Given the description of an element on the screen output the (x, y) to click on. 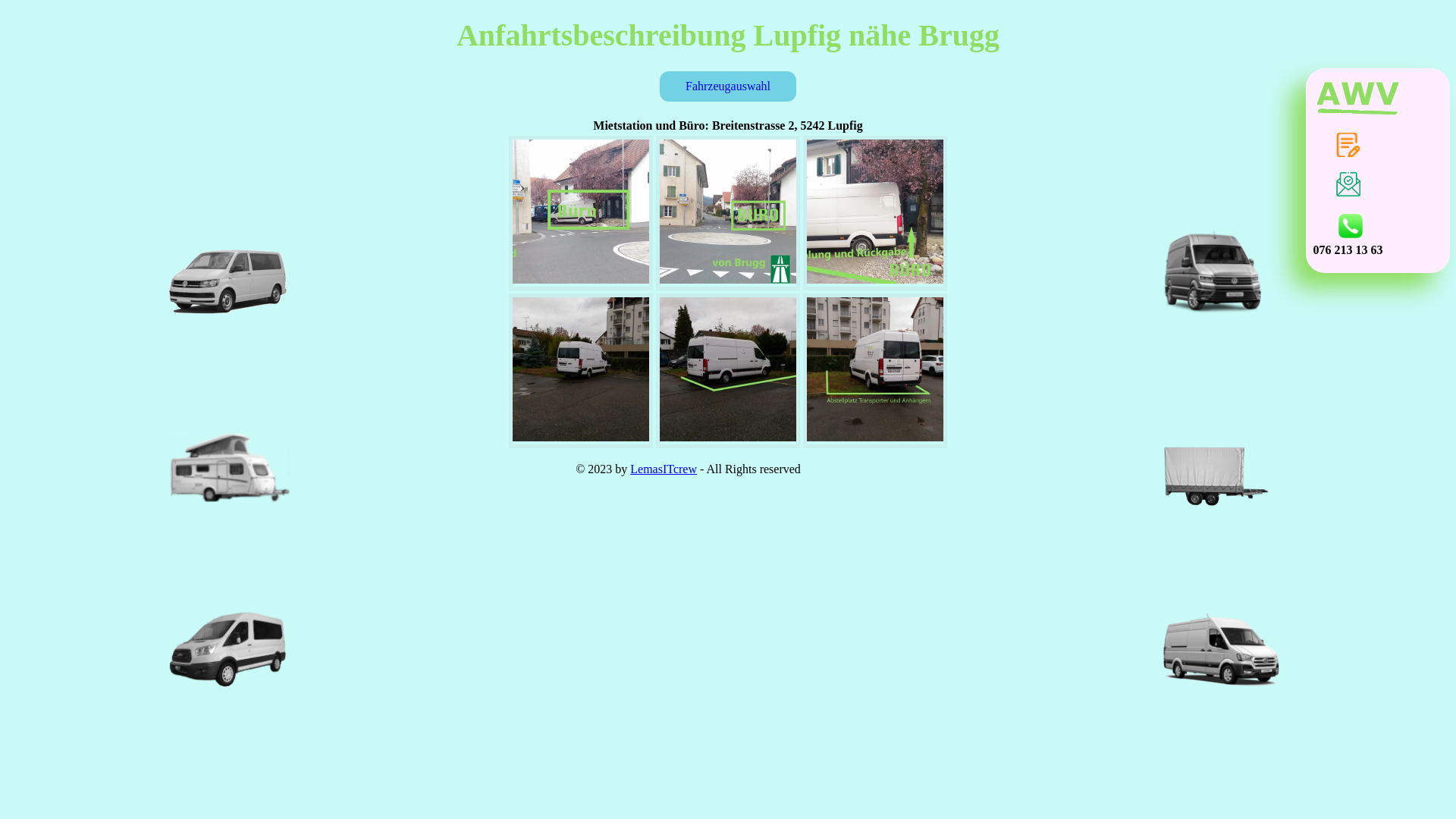
Lieferwagenvermietung Brugg Element type: hover (874, 279)
Mietwagen Brugg Element type: hover (727, 436)
Formularanfrage Element type: hover (1348, 144)
LemasITcrew Element type: text (663, 468)
5242 Lupfig Element type: hover (580, 279)
E-Mail senden Element type: hover (1348, 184)
AWV Brugg Element type: hover (1358, 98)
Telefonisch Element type: hover (1350, 225)
Miete mich Lupfig Element type: hover (727, 279)
Umzugsbus 5242 Lupfig Element type: hover (580, 436)
Fahrzeugauswahl Element type: text (727, 86)
